Given the description of an element on the screen output the (x, y) to click on. 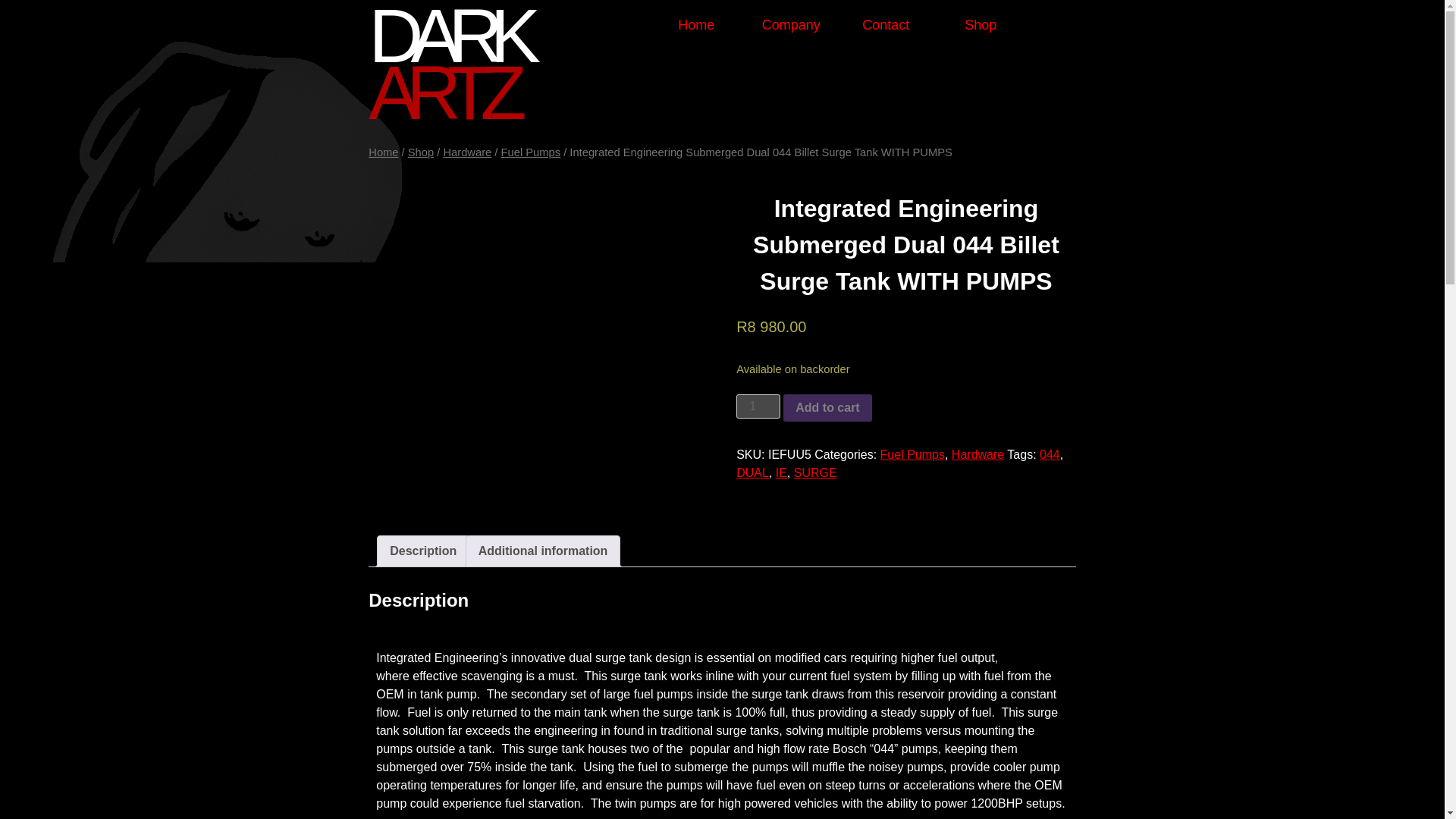
SURGE (815, 472)
Home (382, 152)
Add to cart (826, 407)
Company (791, 25)
Shop (420, 152)
Additional information (543, 551)
Home (696, 25)
Hardware (467, 152)
Description (423, 551)
Hardware (978, 454)
DUAL (752, 472)
044 (1049, 454)
Fuel Pumps (912, 454)
Fuel Pumps (530, 152)
1 (758, 405)
